Given the description of an element on the screen output the (x, y) to click on. 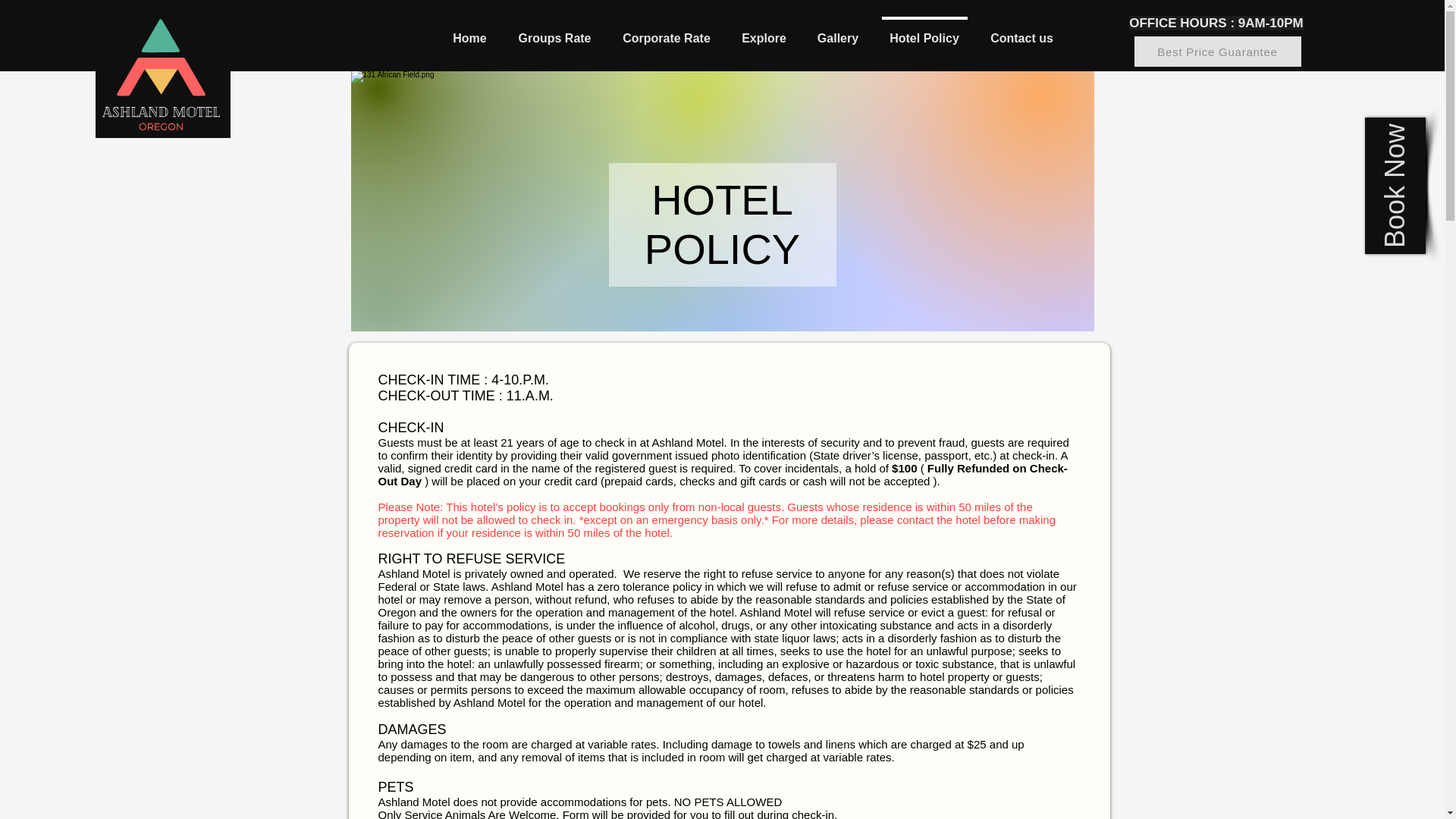
Hotel Policy (923, 31)
Gallery (838, 31)
Contact us (1021, 31)
Explore (764, 31)
Groups Rate (554, 31)
Corporate Rate (666, 31)
Home (469, 31)
Best Price Guarantee (1217, 51)
